Given the description of an element on the screen output the (x, y) to click on. 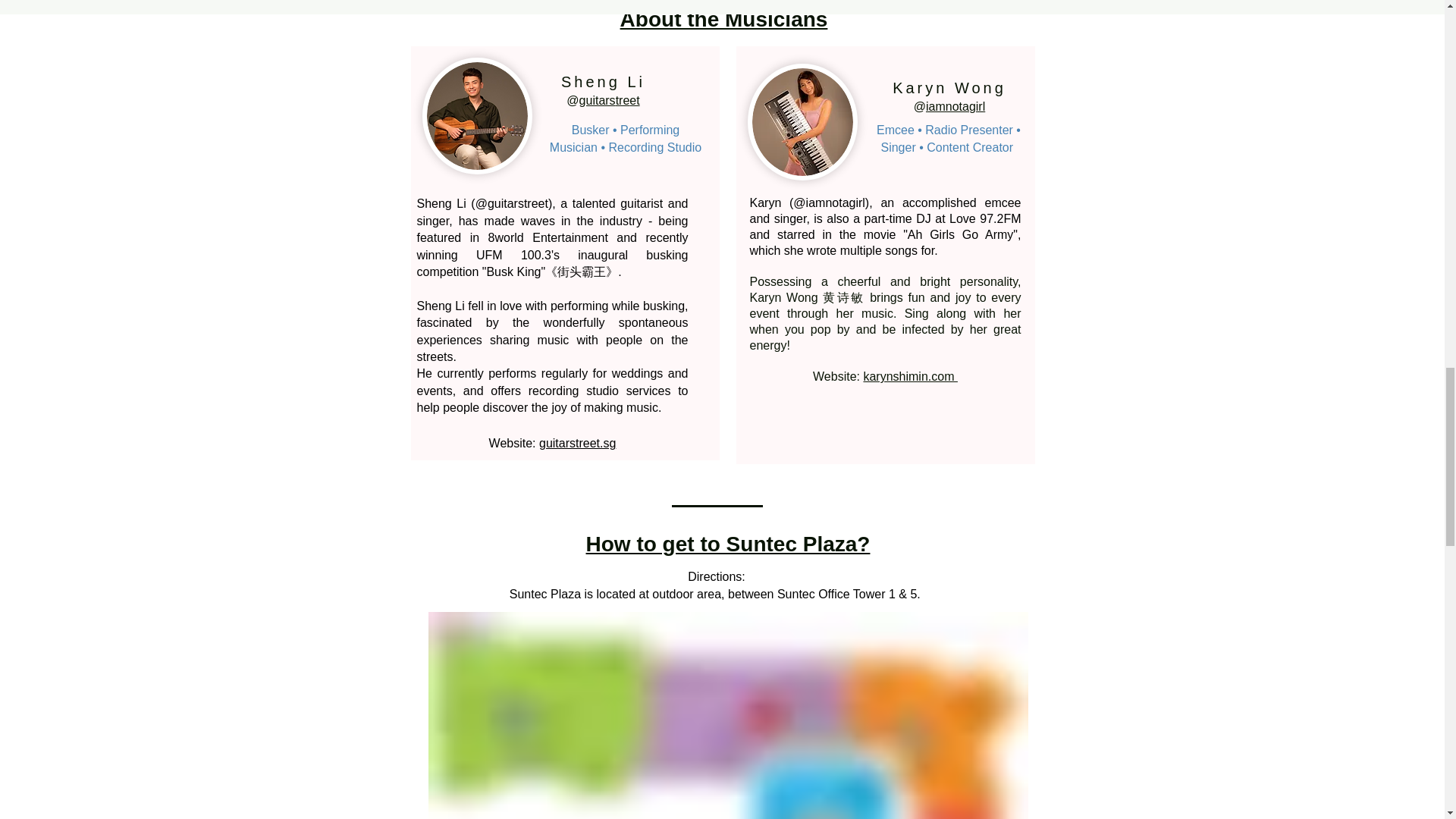
guitarstreet.sg (576, 442)
guitars (597, 100)
iamnotagirl (955, 106)
karynshimin.com  (909, 376)
tre (622, 100)
